Given the description of an element on the screen output the (x, y) to click on. 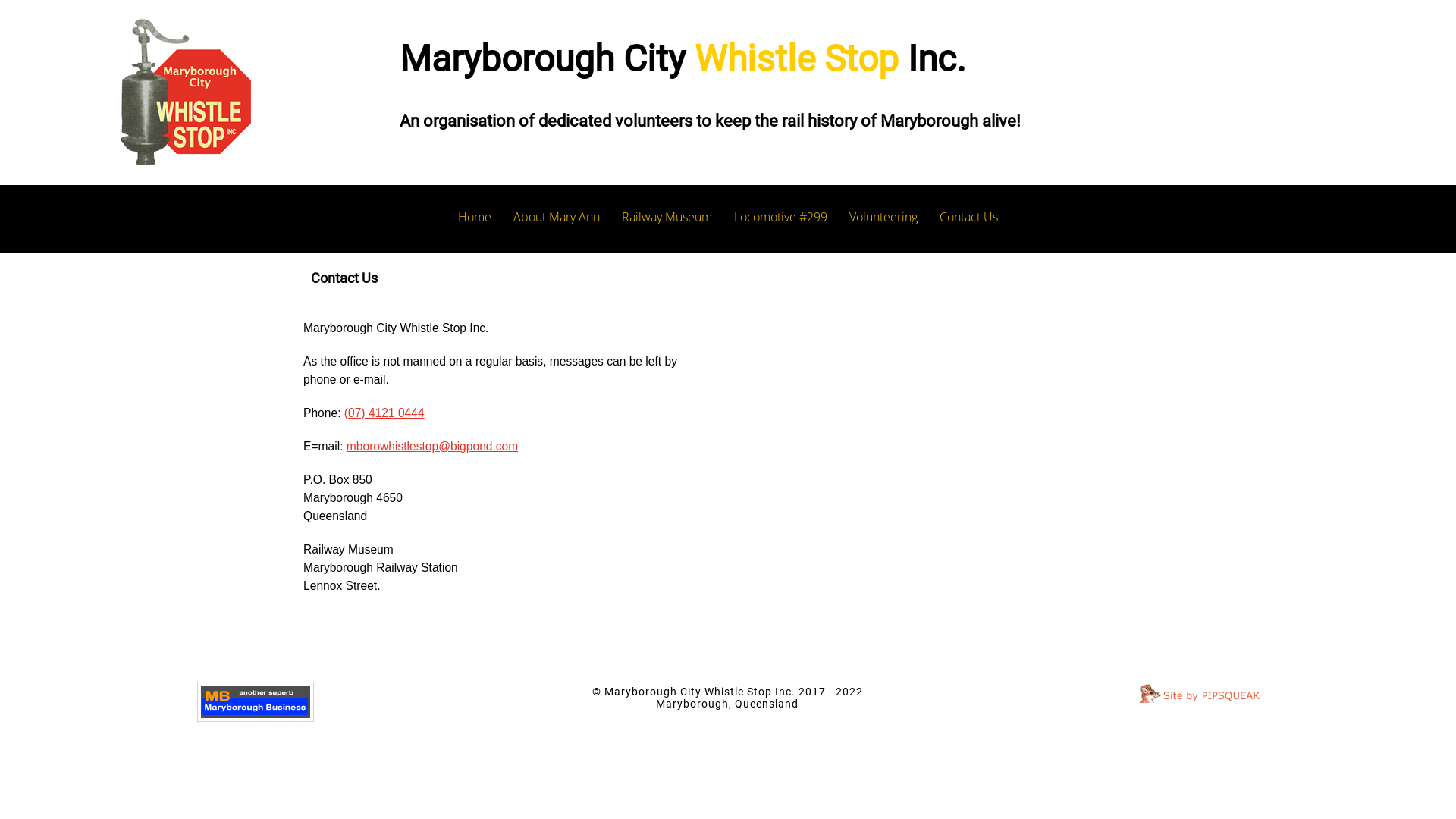
Locomotive #299 Element type: text (780, 216)
About Mary Ann Element type: text (556, 216)
Link to the Maryborough Business Directory Element type: hover (255, 701)
Contact Us Element type: text (968, 216)
Home Element type: text (474, 216)
(07) 4121 0444 Element type: text (384, 412)
Link to Pipsqueak Web Designs Element type: hover (1198, 694)
mborowhistlestop@bigpond.com Element type: text (431, 445)
Volunteering Element type: text (883, 216)
Railway Museum Element type: text (666, 216)
